Given the description of an element on the screen output the (x, y) to click on. 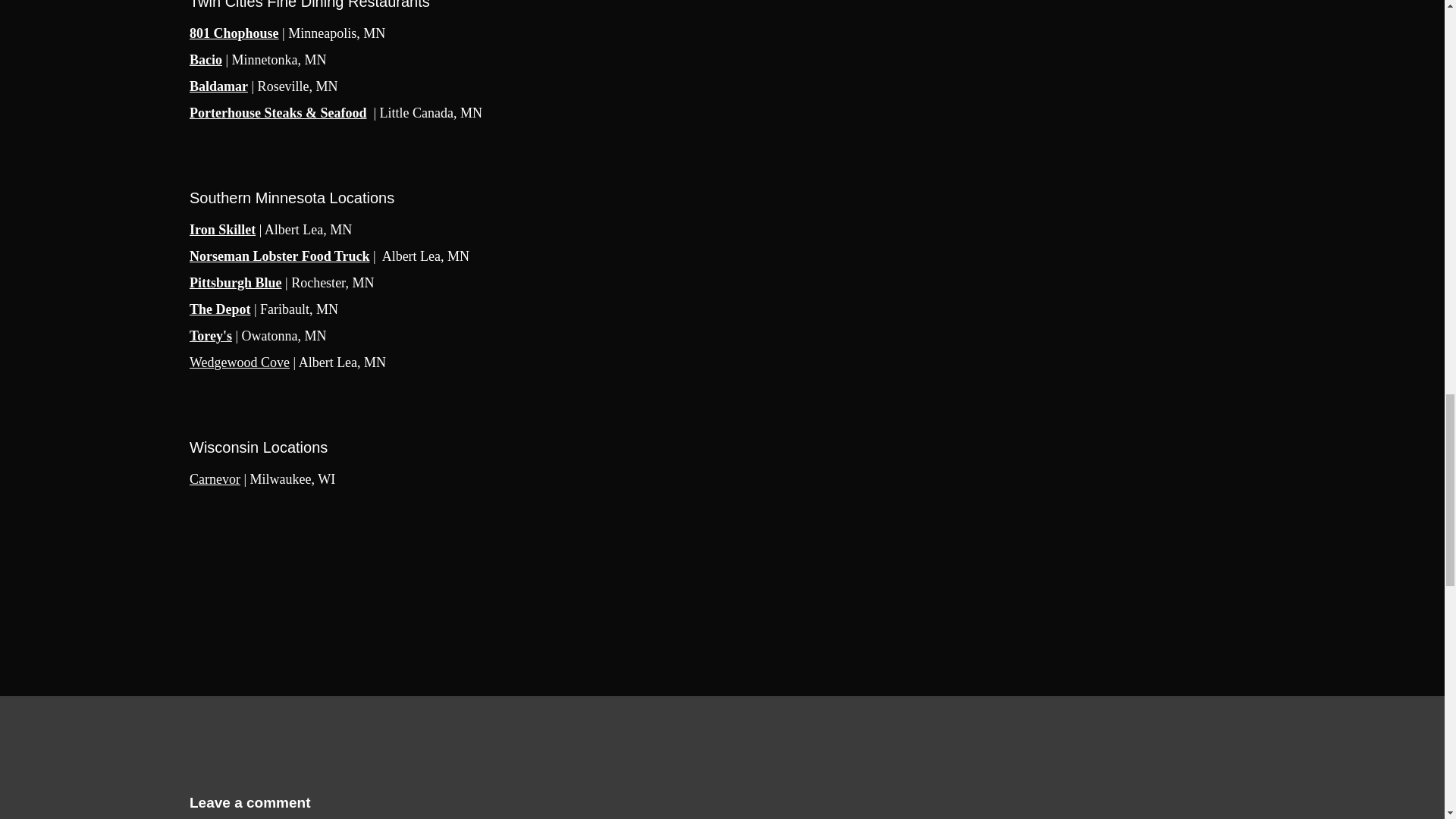
801 chophouse minneapolis serves Fellers Ranch Wagyu steaks (234, 32)
Carnevor Milwaukee serves Fellers Ranch wagyu beef (214, 478)
